Given the description of an element on the screen output the (x, y) to click on. 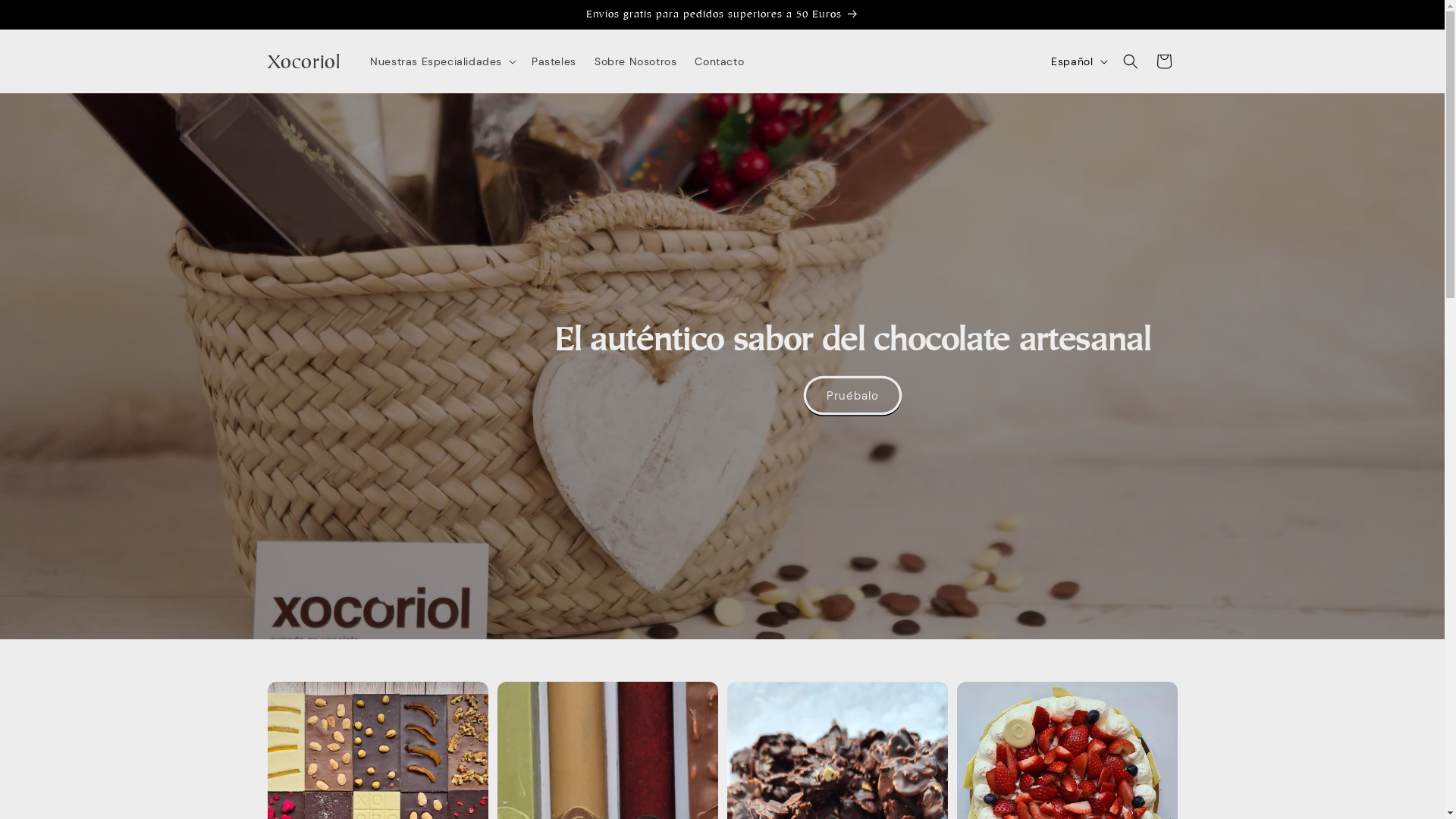
Contacto Element type: text (719, 61)
Carrito Element type: text (1162, 61)
Pasteles Element type: text (553, 61)
Sobre Nosotros Element type: text (635, 61)
Xocoriol Element type: text (303, 60)
